Given the description of an element on the screen output the (x, y) to click on. 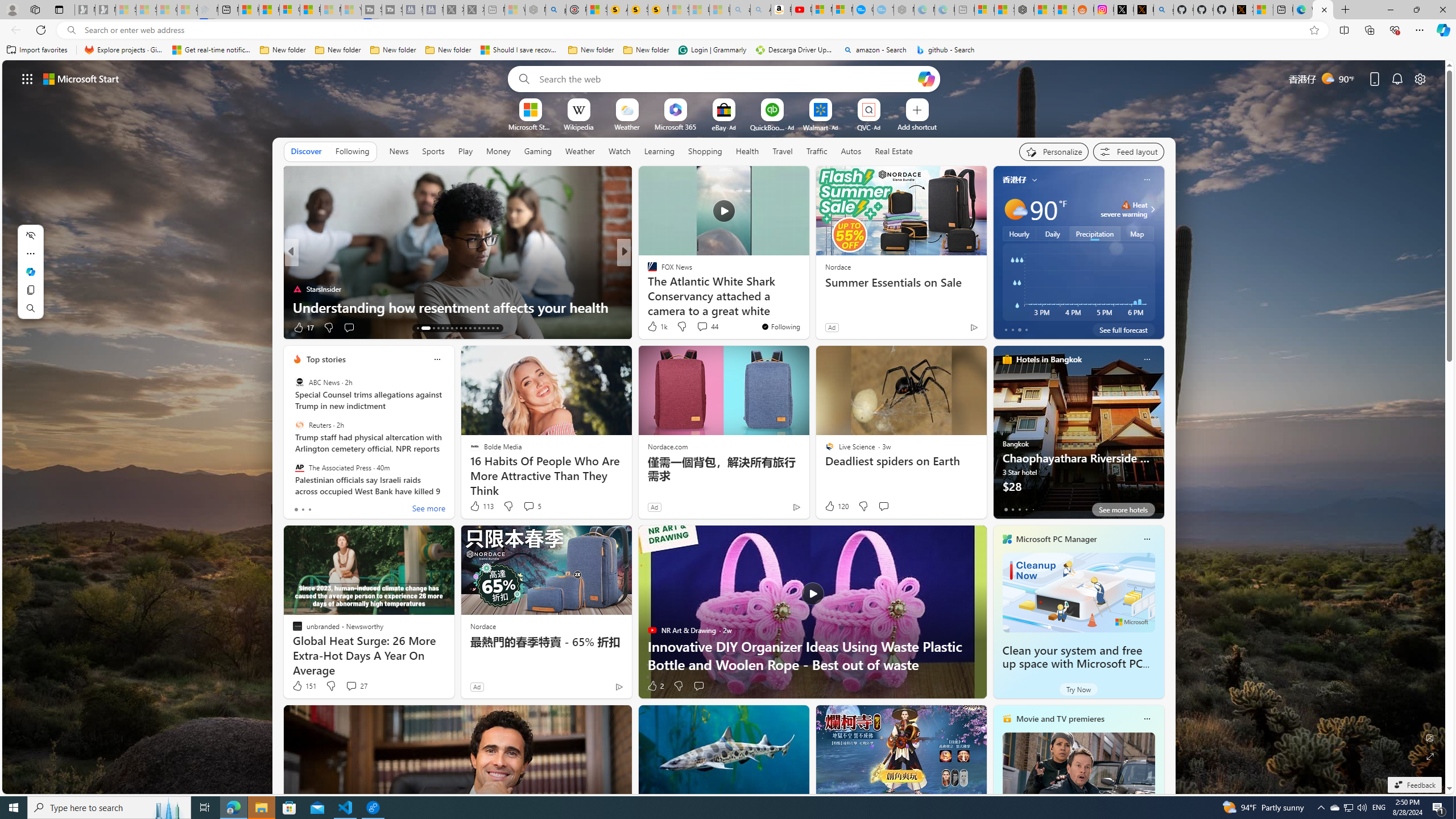
Play (465, 151)
Newsletter Sign Up - Sleeping (105, 9)
tab-1 (1012, 509)
poe - Search (555, 9)
The Weather Channel (647, 270)
github - Search (945, 49)
Streaming Coverage | T3 - Sleeping (371, 9)
Favorites bar (728, 49)
New tab - Sleeping (964, 9)
Play (465, 151)
Amazon Echo Dot PNG - Search Images - Sleeping (760, 9)
Heat - Severe Heat severe warning (1123, 208)
